Given the description of an element on the screen output the (x, y) to click on. 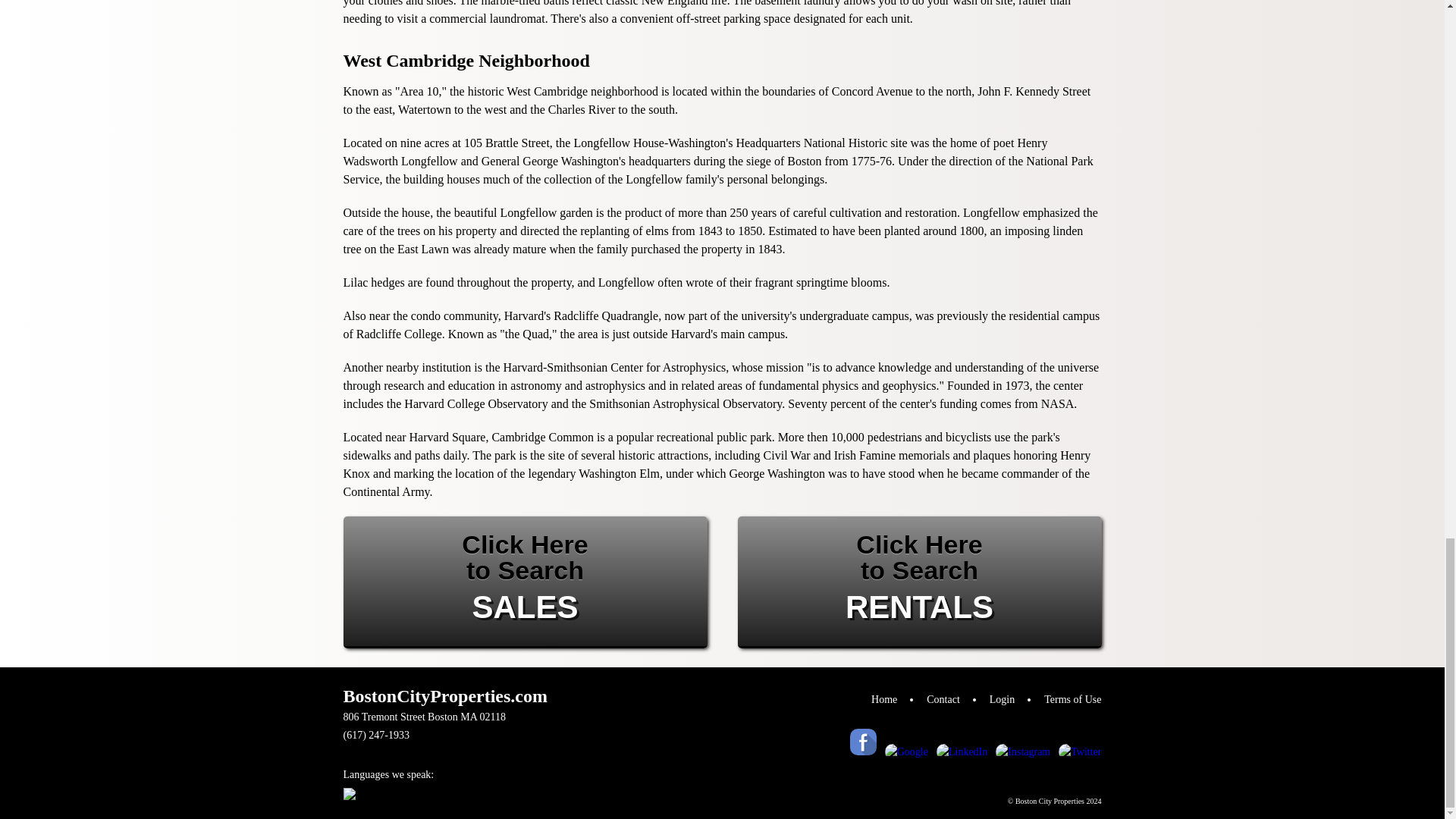
Login (1002, 700)
Terms of Use (1071, 700)
Contact (942, 700)
Home (883, 700)
BostonCityProperties.com (524, 582)
